Given the description of an element on the screen output the (x, y) to click on. 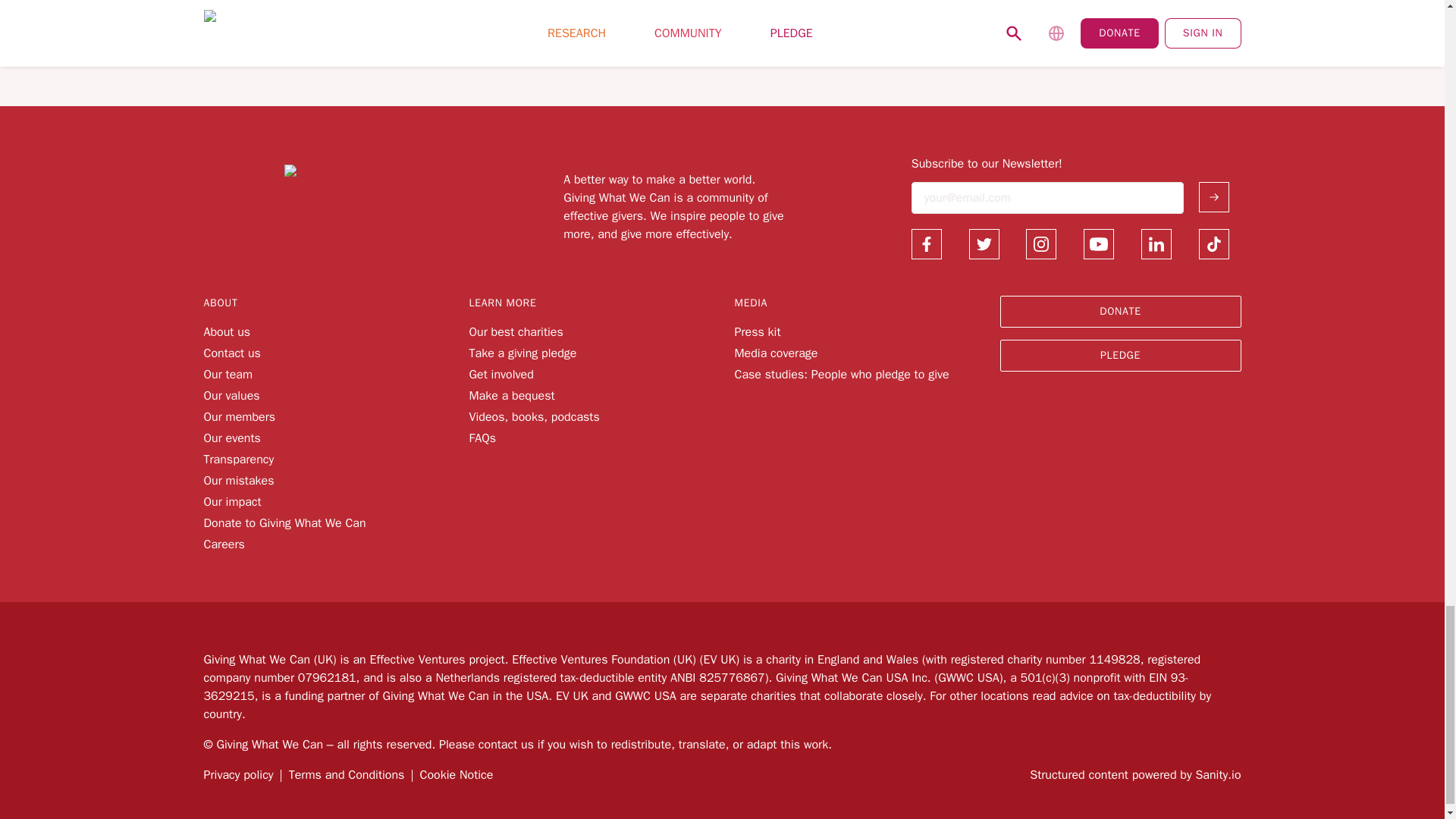
About us (226, 331)
Submit (1213, 196)
Instagram (1041, 244)
Contact us (231, 353)
Youtube (1098, 244)
Twitter (983, 244)
Facebook (926, 244)
LinkedIn (1156, 244)
Tick Tock (1213, 244)
